Given the description of an element on the screen output the (x, y) to click on. 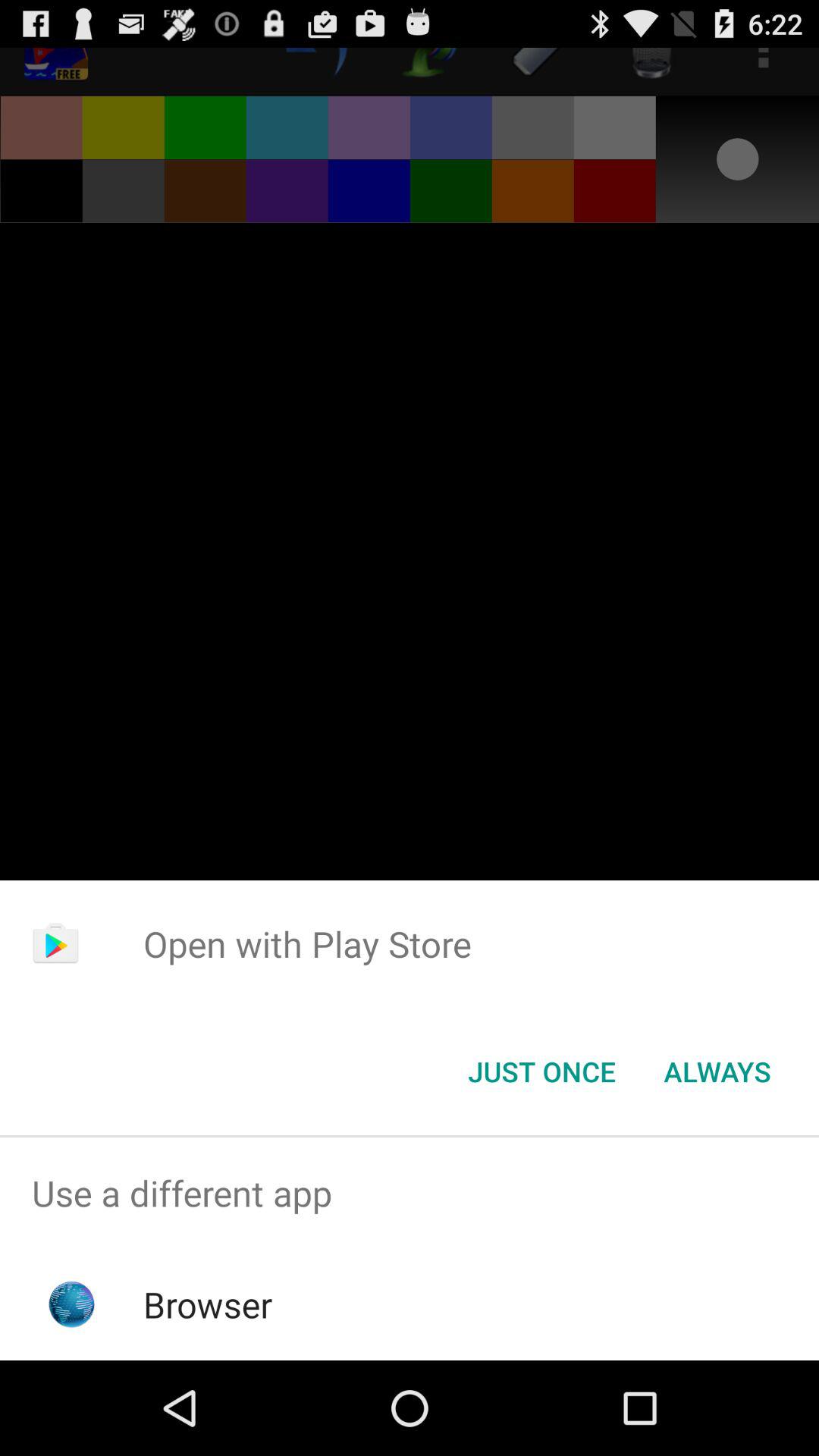
choose the button at the bottom right corner (717, 1071)
